Given the description of an element on the screen output the (x, y) to click on. 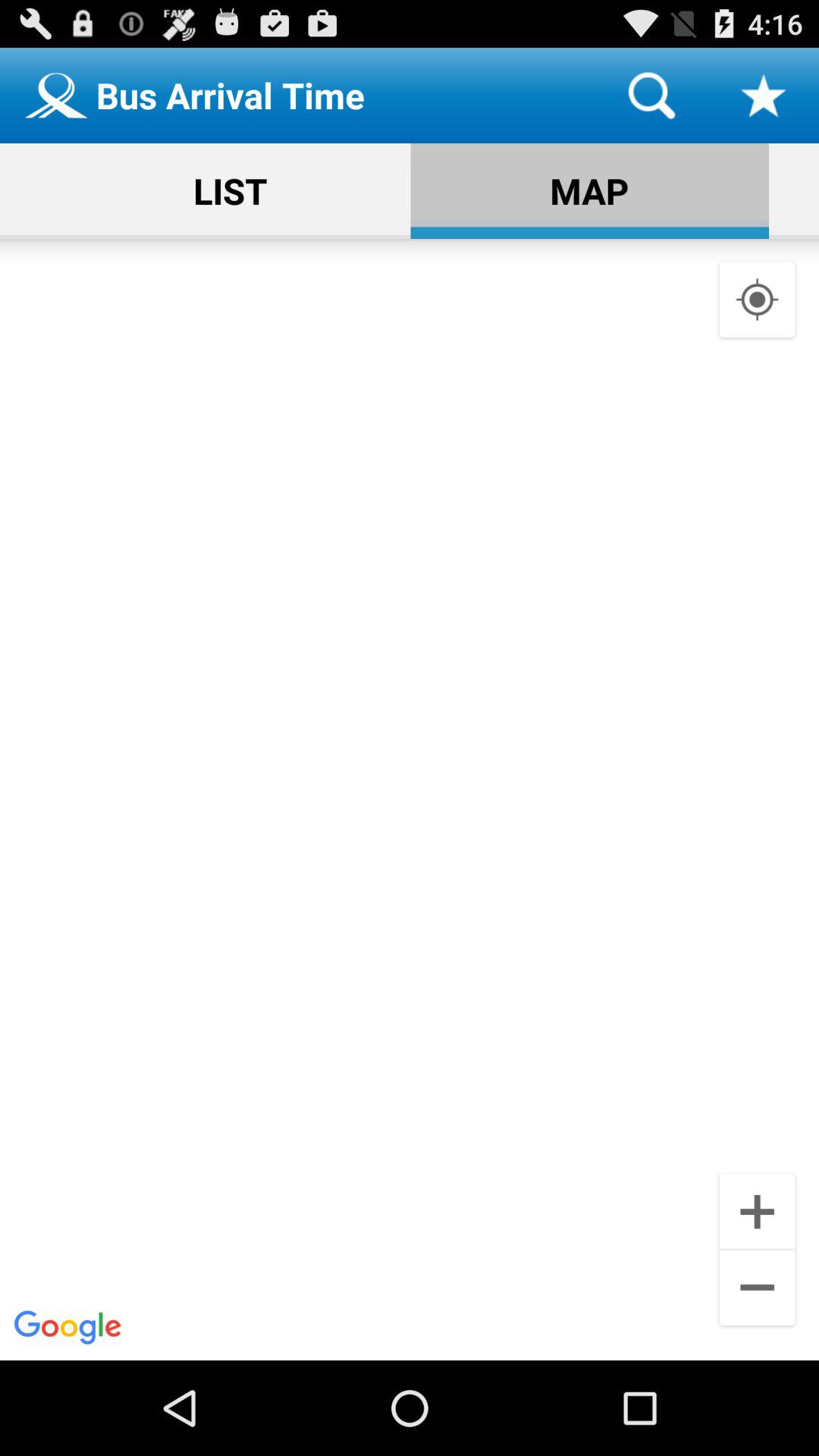
open the app to the right of bus arrival time item (651, 95)
